Given the description of an element on the screen output the (x, y) to click on. 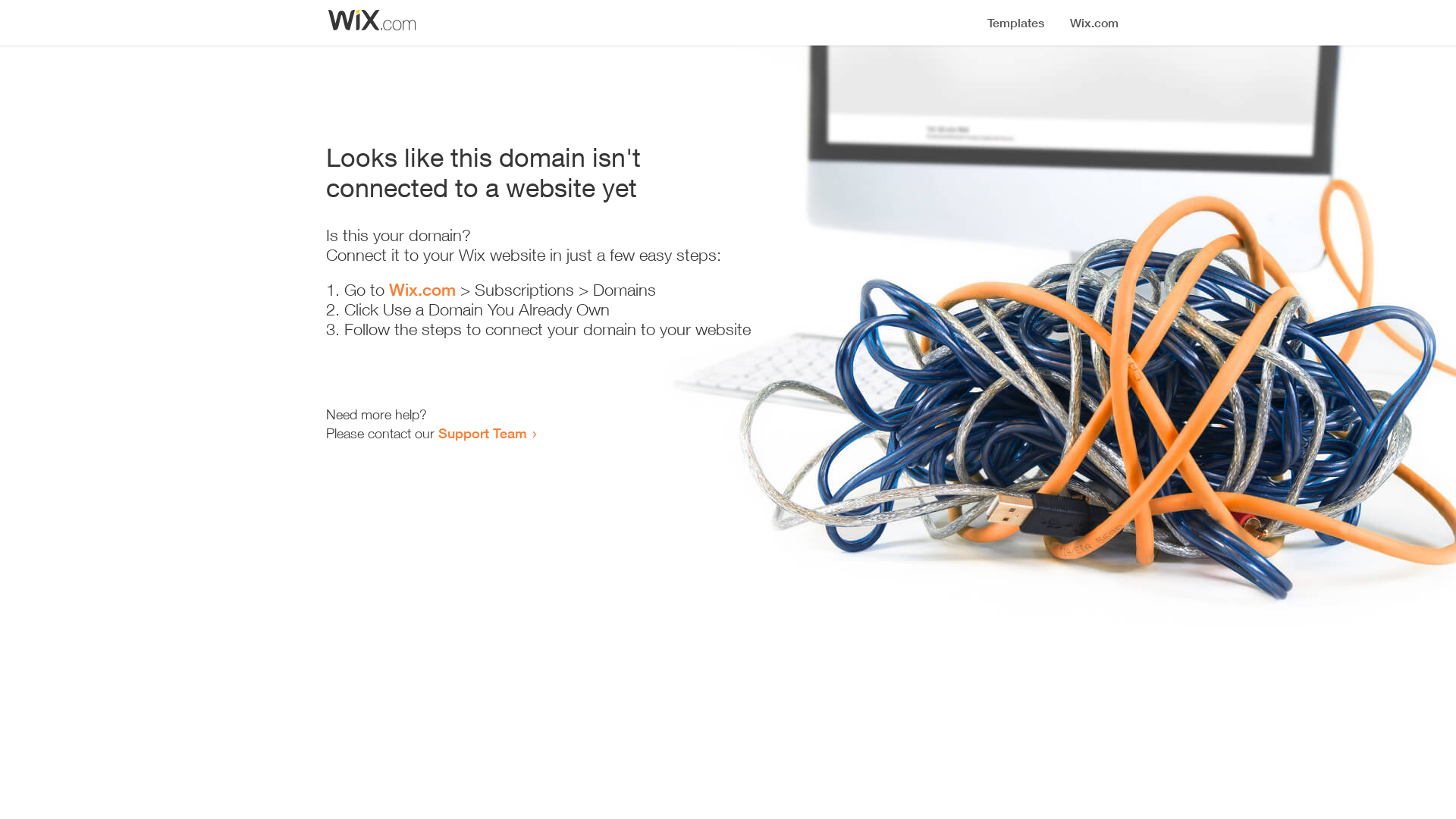
Wix.com Element type: text (422, 289)
Support Team Element type: text (482, 432)
